Given the description of an element on the screen output the (x, y) to click on. 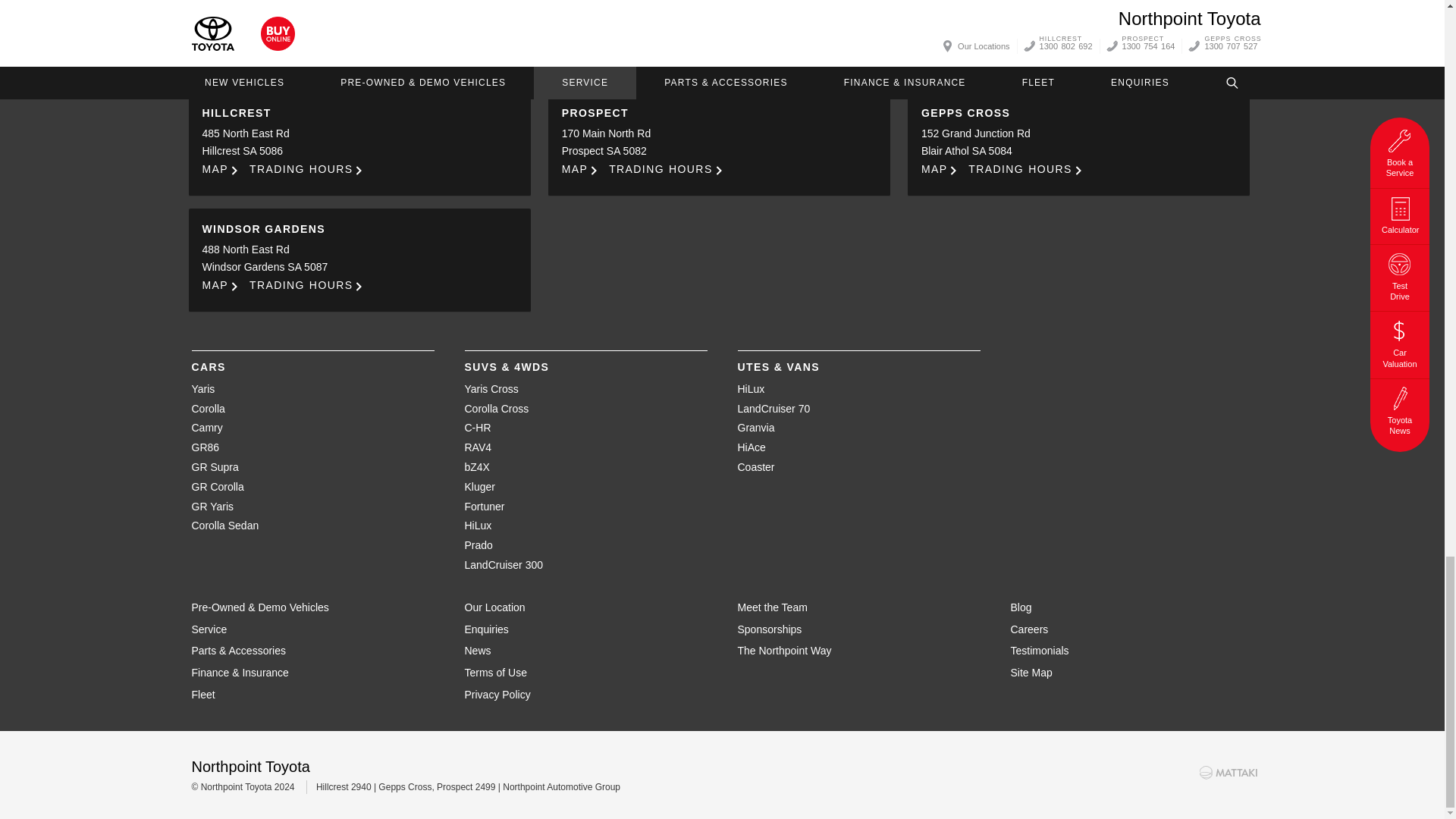
Follow Us on LinkedIn (742, 26)
Visit our YouTube Channel (701, 26)
Follow Us on Instagram (661, 26)
Become a Friend on Facebook (783, 26)
